Given the description of an element on the screen output the (x, y) to click on. 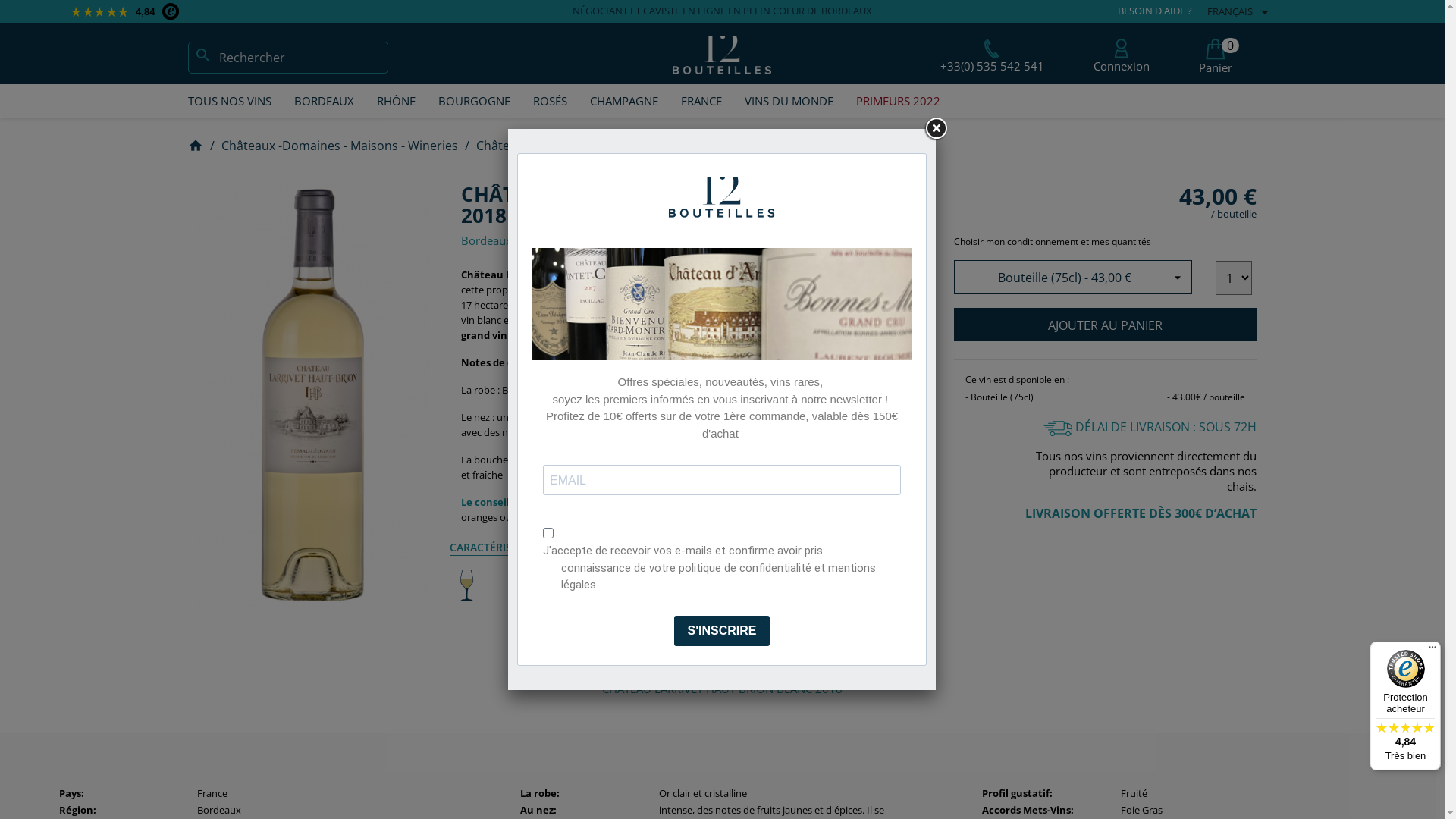
Close Element type: hover (935, 128)
PRIMEURS 2022 Element type: text (897, 100)
FRANCE Element type: text (700, 100)
S'INSCRIRE Element type: text (722, 630)
AJOUTER AU PANIER Element type: text (1105, 324)
BESOIN D'AIDE ? | Element type: text (1158, 12)
home Element type: text (195, 143)
BORDEAUX Element type: text (323, 100)
CHAMPAGNE Element type: text (622, 100)
VINS DU MONDE Element type: text (788, 100)
Larrivet Haut Brion Element type: text (553, 274)
BOURGOGNE Element type: text (473, 100)
Blanc Element type: hover (518, 584)
TOUS NOS VINS Element type: text (228, 100)
Connexion Element type: text (1121, 55)
